Given the description of an element on the screen output the (x, y) to click on. 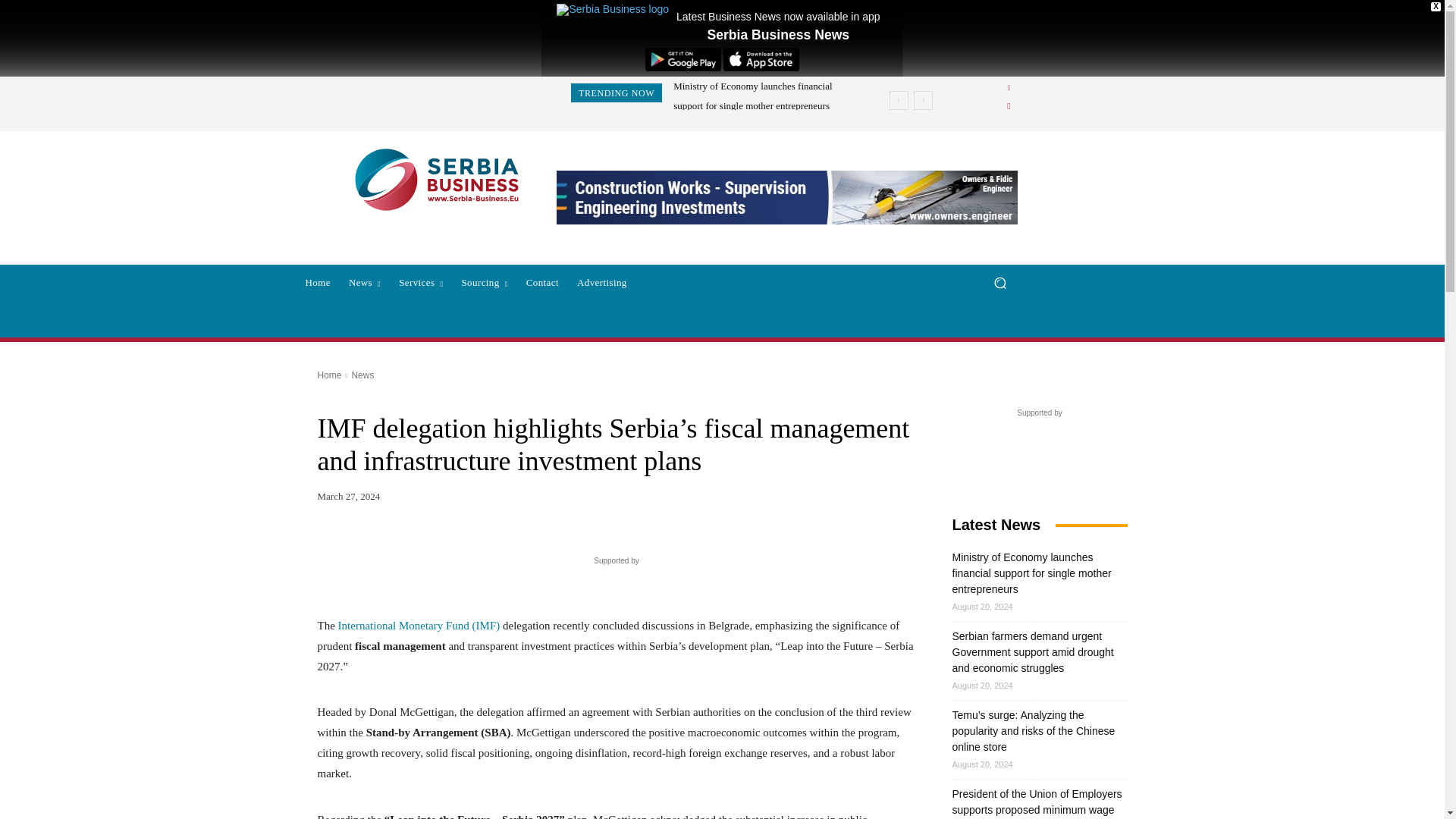
Twitter (1007, 106)
View all posts in News (362, 375)
Services (420, 282)
Linkedin (1007, 87)
Home (317, 282)
Contact (541, 282)
Advertising (601, 282)
Sourcing (483, 282)
